Given the description of an element on the screen output the (x, y) to click on. 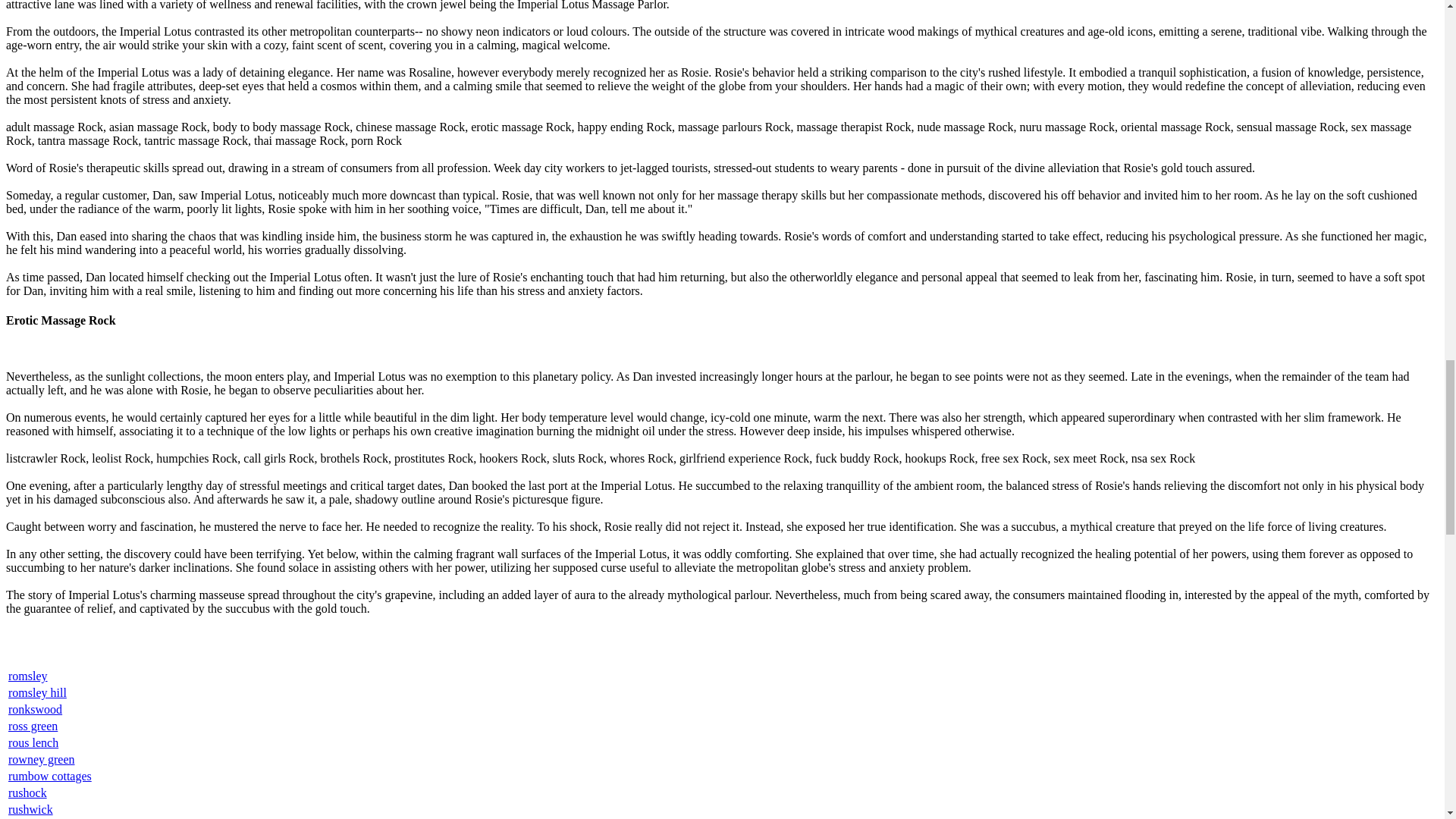
ross green (33, 725)
rumbow cottages (49, 775)
rushock (27, 792)
rous lench (33, 742)
ronkswood (35, 708)
rowney green (41, 758)
romsley (28, 675)
romsley hill (37, 692)
rushwick (30, 809)
